Given the description of an element on the screen output the (x, y) to click on. 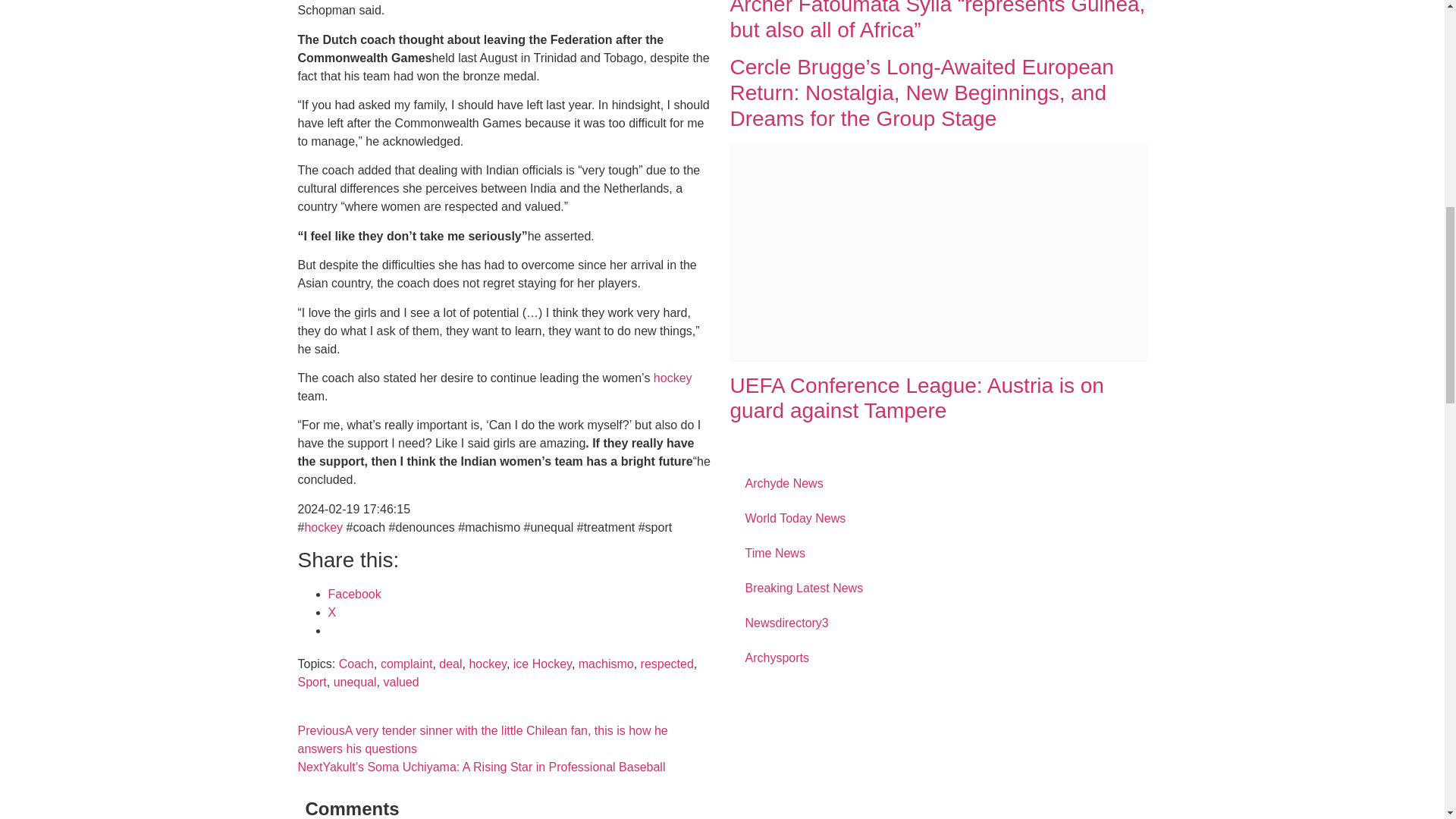
UEFA Conference League: Austria is on guard against Tampere (938, 252)
Click to share on Facebook (353, 594)
